Given the description of an element on the screen output the (x, y) to click on. 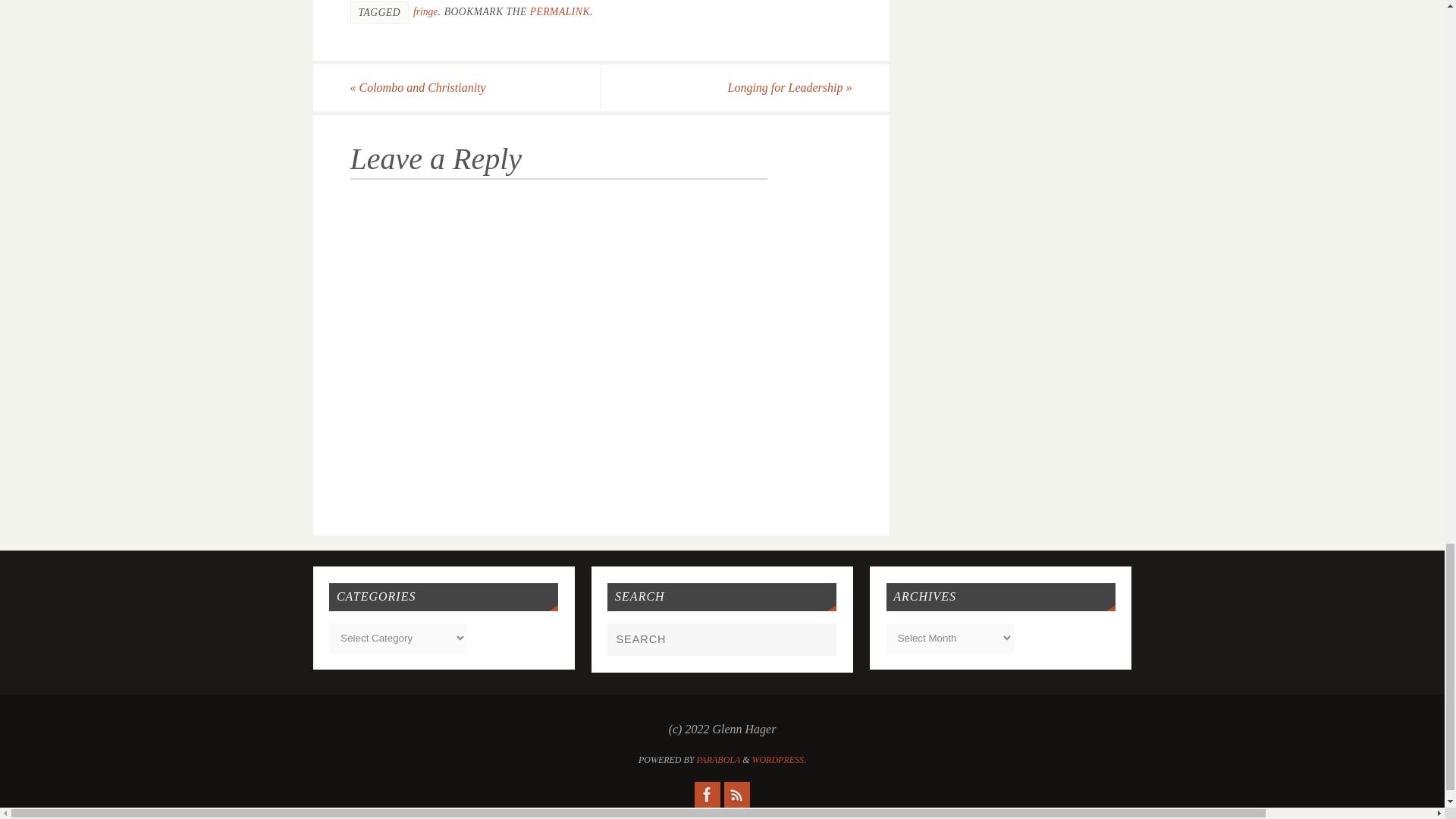
Parabola Theme by Cryout Creations (719, 759)
Semantic Personal Publishing Platform (778, 759)
Facebook (707, 794)
